Given the description of an element on the screen output the (x, y) to click on. 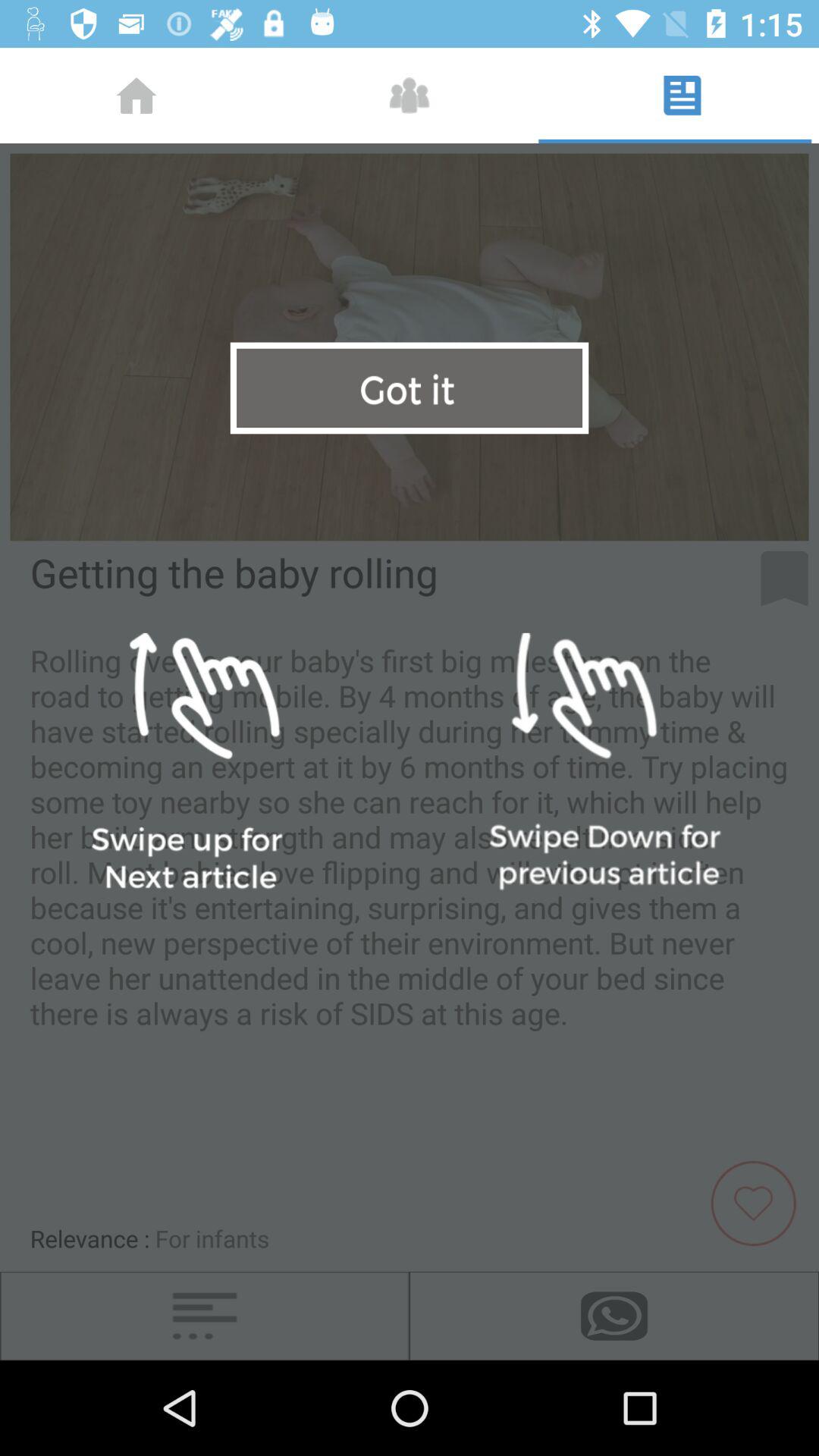
save page as favorite (759, 1201)
